Given the description of an element on the screen output the (x, y) to click on. 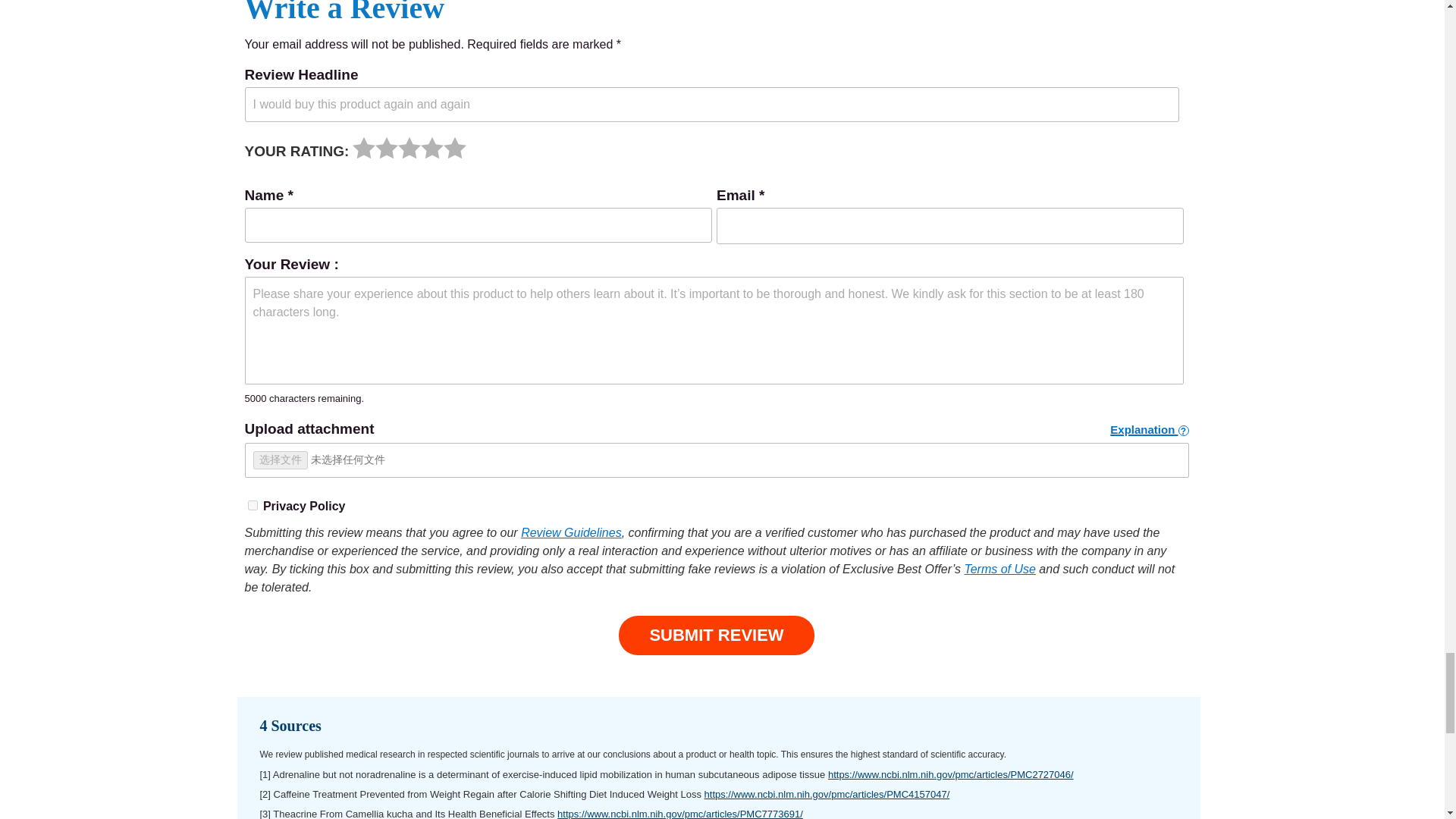
Yes (252, 505)
SUBMIT REVIEW (715, 635)
